Given the description of an element on the screen output the (x, y) to click on. 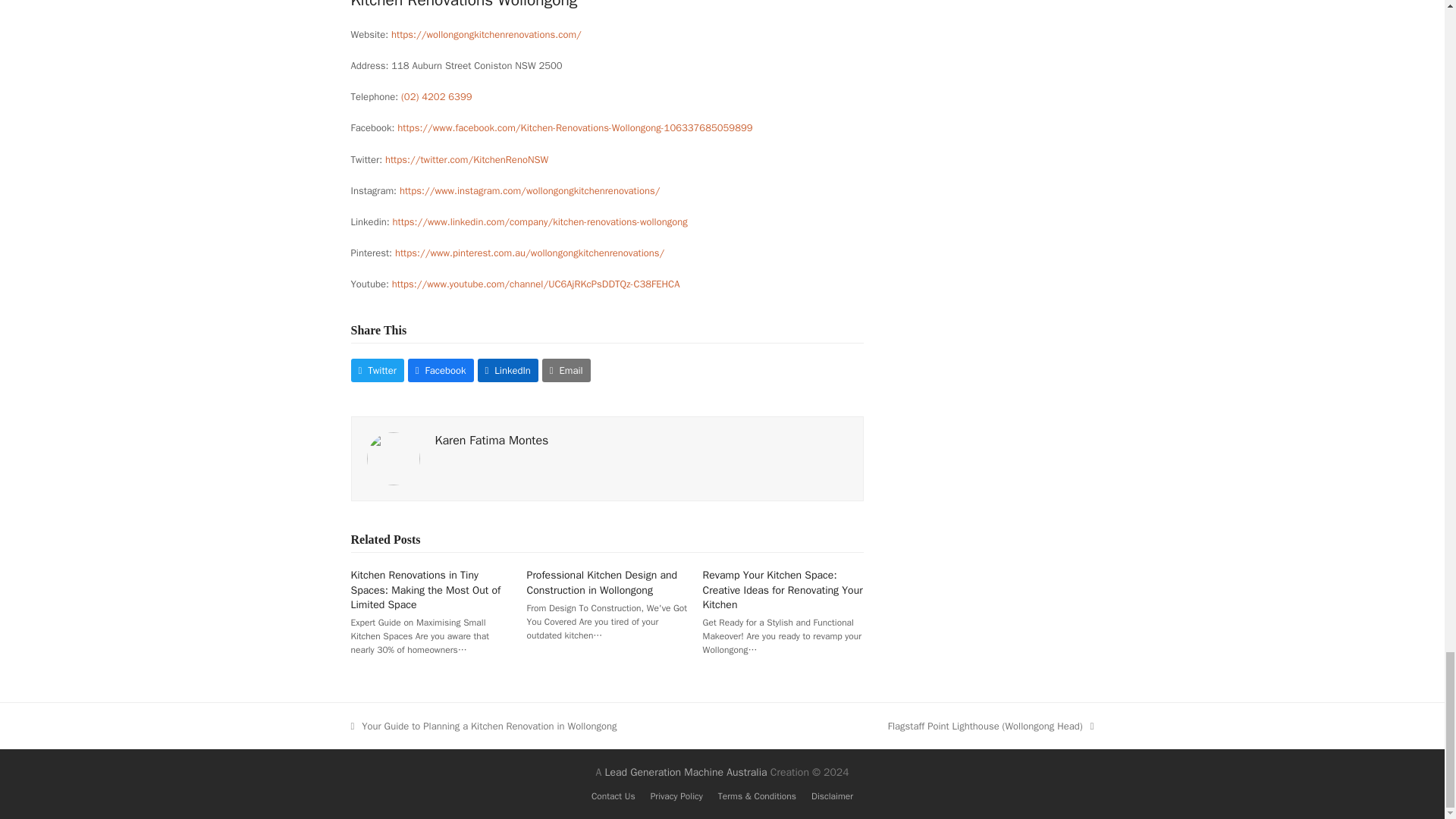
Visit Author Page (393, 458)
Visit Author Page (491, 440)
